Given the description of an element on the screen output the (x, y) to click on. 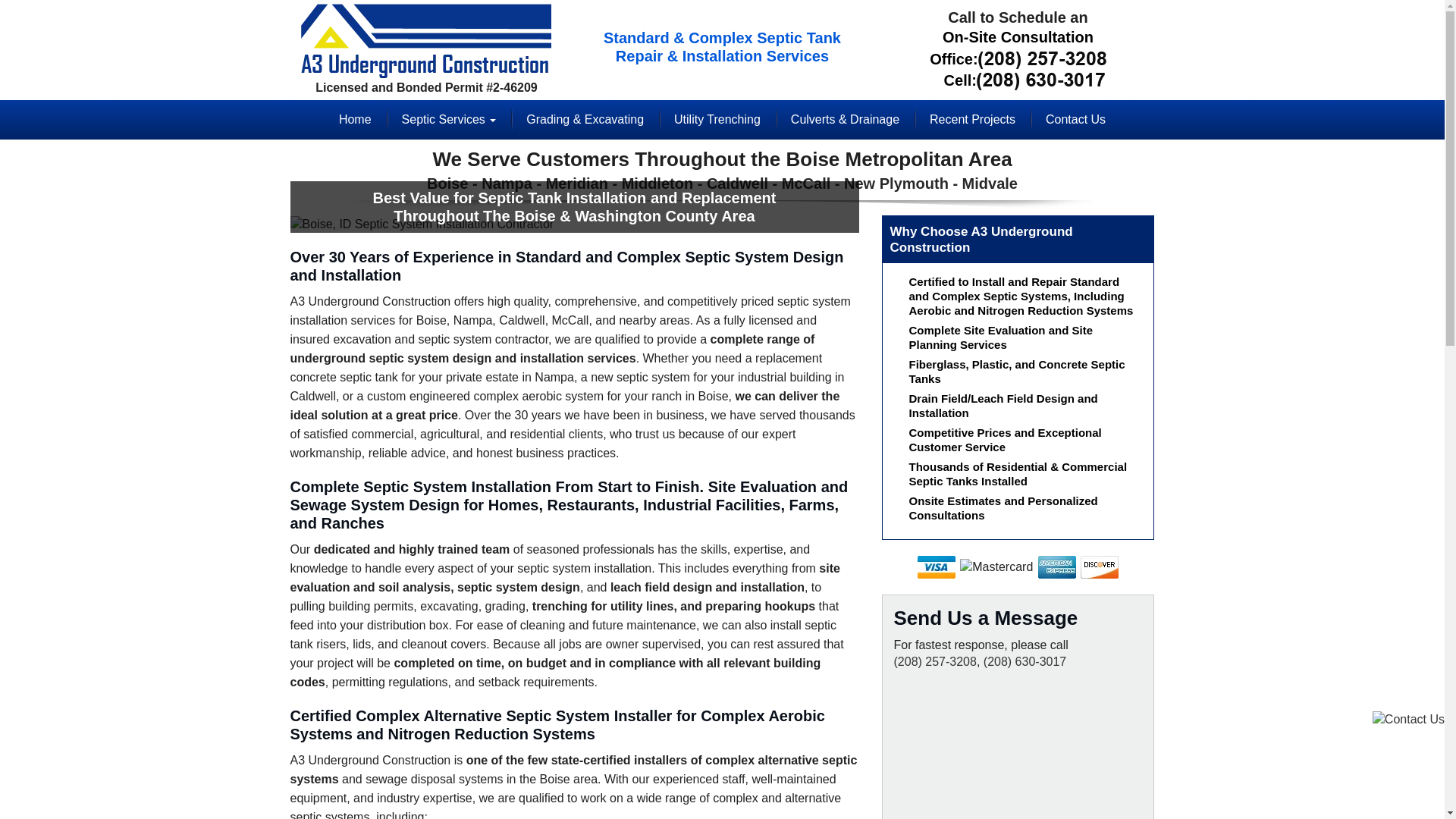
With AmEx (1056, 567)
Home (355, 119)
Pay Via Discover (1099, 567)
Recent Projects (972, 119)
Pay By Visa (936, 567)
Septic Services (449, 119)
Contact Us (1075, 119)
Accept Mastercard (995, 566)
Utility Trenching (717, 119)
